Given the description of an element on the screen output the (x, y) to click on. 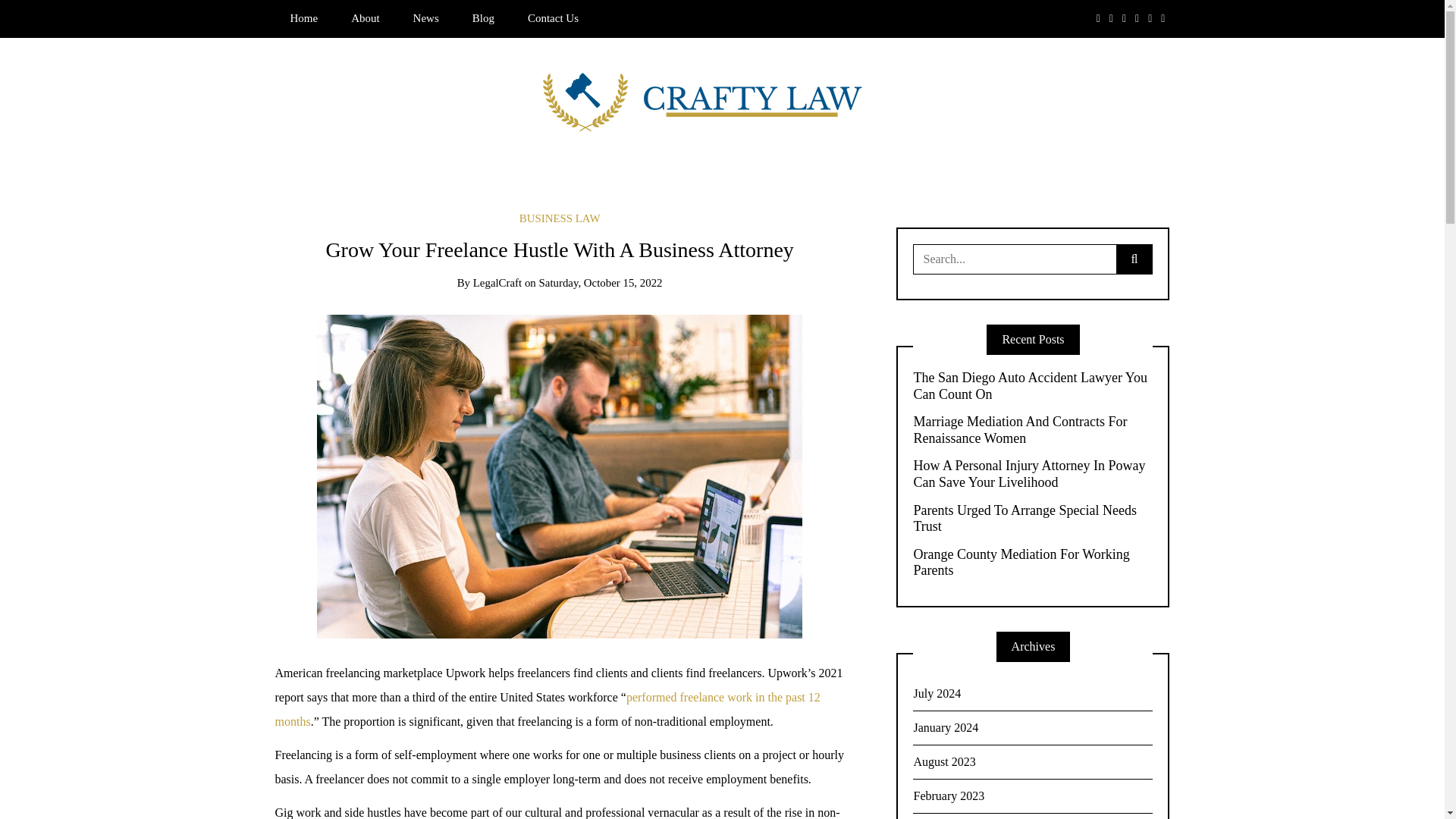
News (425, 18)
performed freelance work in the past 12 months (547, 709)
Posts by LegalCraft (497, 282)
Blog (483, 18)
Contact Us (553, 18)
Search (35, 16)
Home (304, 18)
LegalCraft (497, 282)
Saturday, October 15, 2022 (600, 282)
BUSINESS LAW (559, 218)
